Given the description of an element on the screen output the (x, y) to click on. 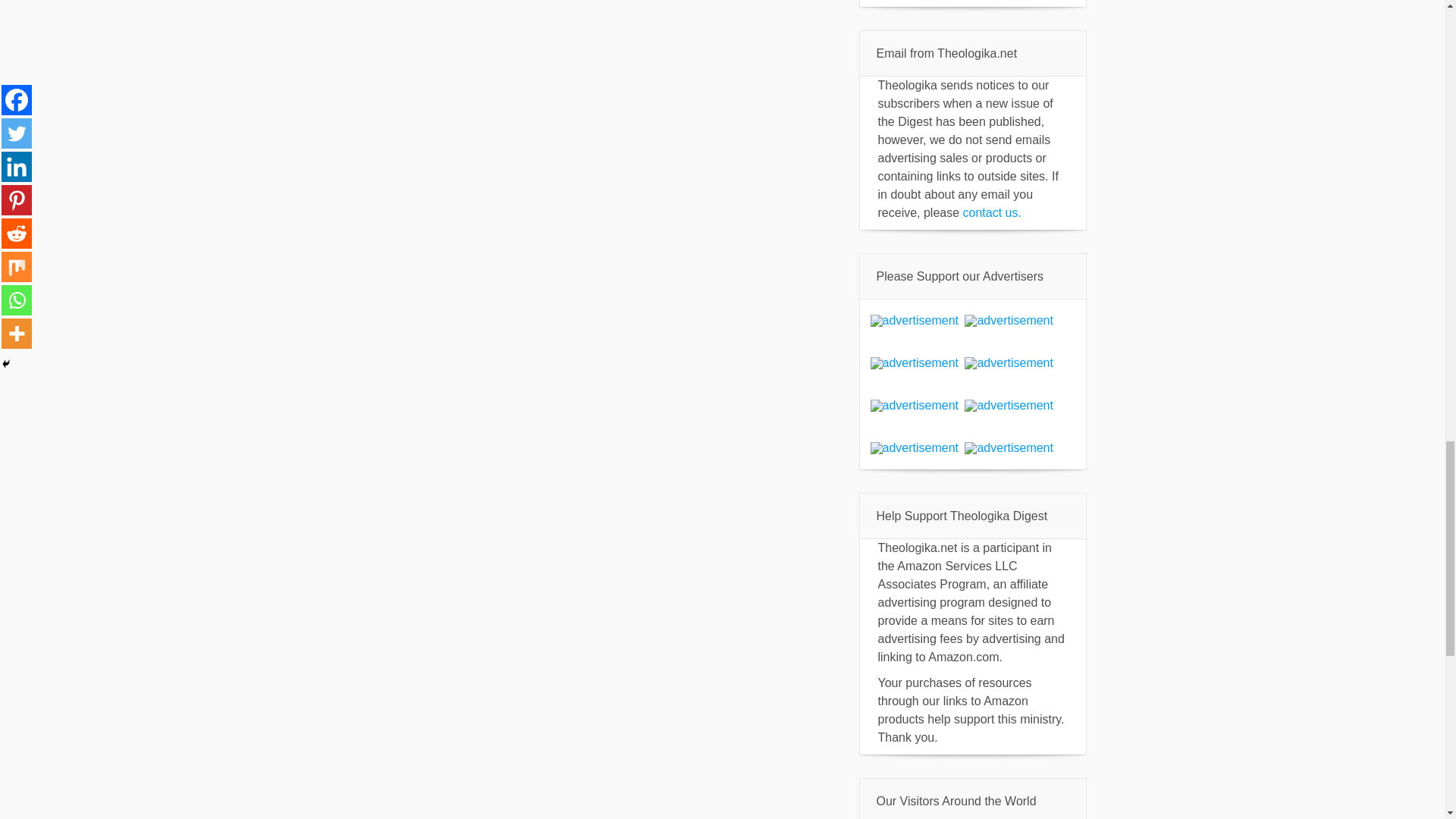
Jesse Manibusan (1007, 320)
Ask Us About Putting Your Ad Here (1007, 363)
Megan McKenna, Theologian and Storyteller (914, 363)
